Given the description of an element on the screen output the (x, y) to click on. 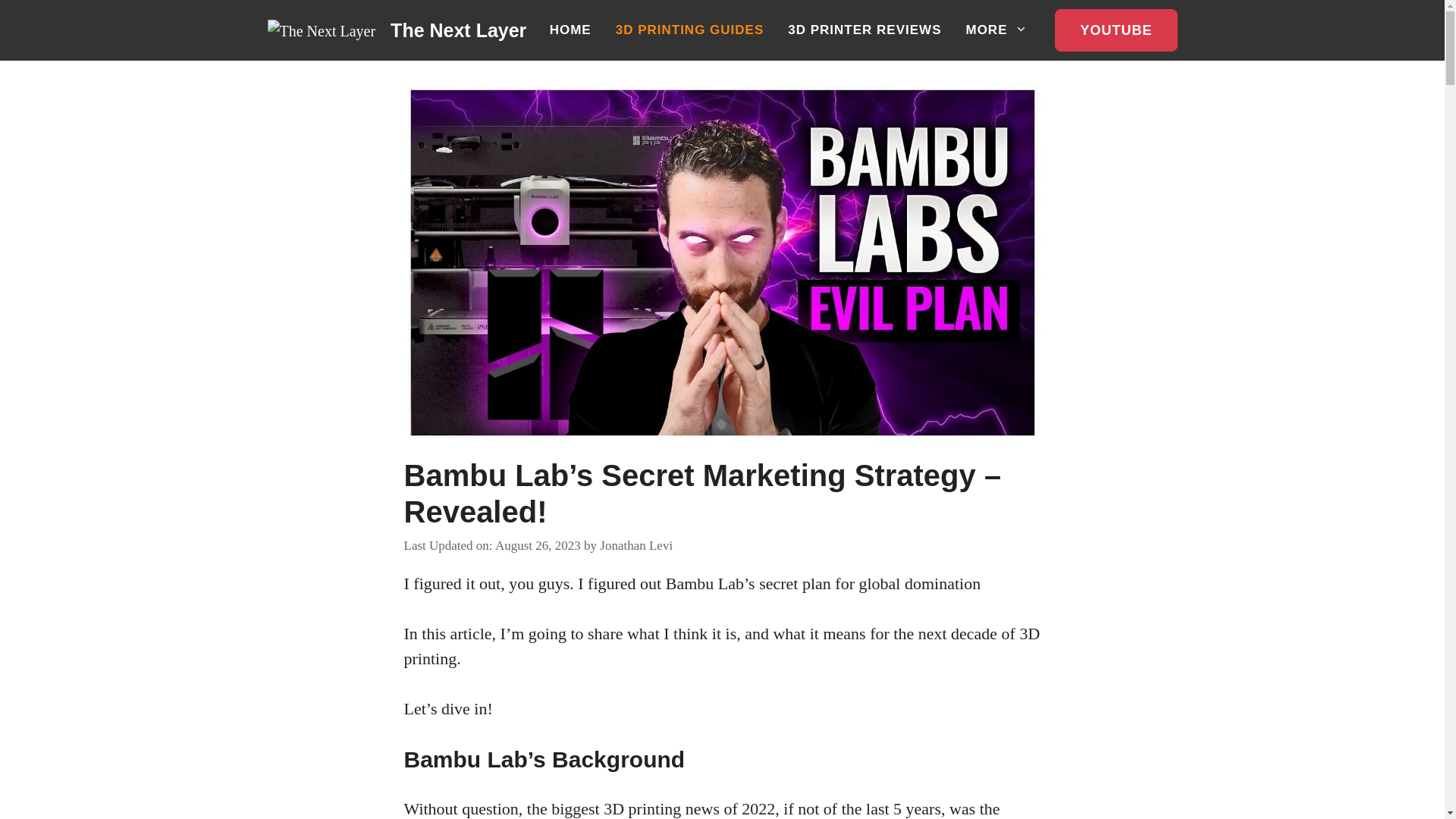
MORE (996, 30)
The Next Layer (457, 29)
3D PRINTING GUIDES (690, 30)
HOME (570, 30)
View all posts by Jonathan Levi (635, 545)
3D PRINTER REVIEWS (864, 30)
YOUTUBE (1115, 30)
Jonathan Levi (635, 545)
